Given the description of an element on the screen output the (x, y) to click on. 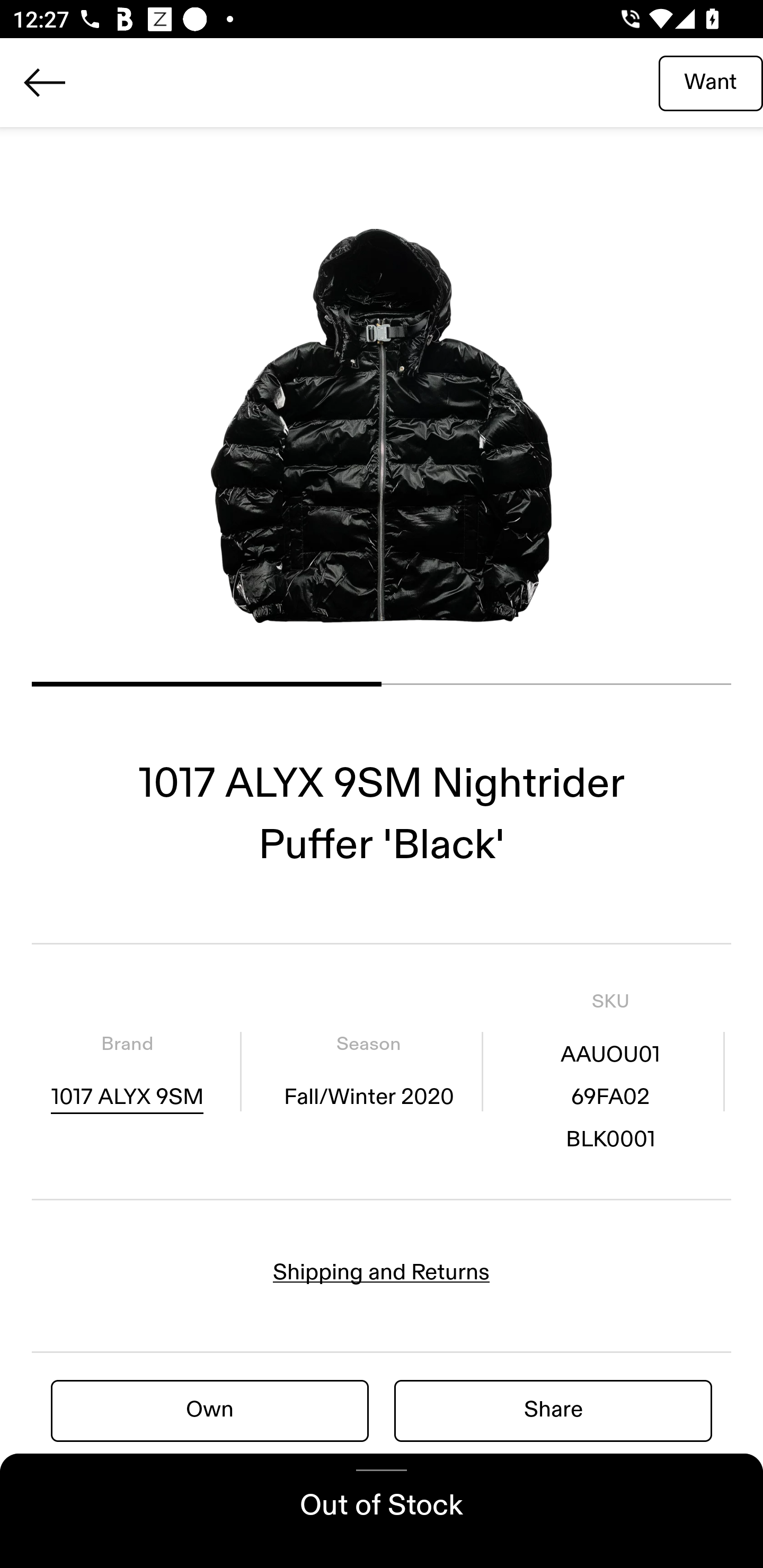
Want (710, 82)
Brand 1017 ALYX 9SM (126, 1070)
Season Fall/Winter 2020 (368, 1070)
SKU AAUOU0169FA02 BLK0001 (609, 1070)
Shipping and Returns (381, 1272)
Own (209, 1410)
Share (552, 1410)
Out of Stock (381, 1510)
